Given the description of an element on the screen output the (x, y) to click on. 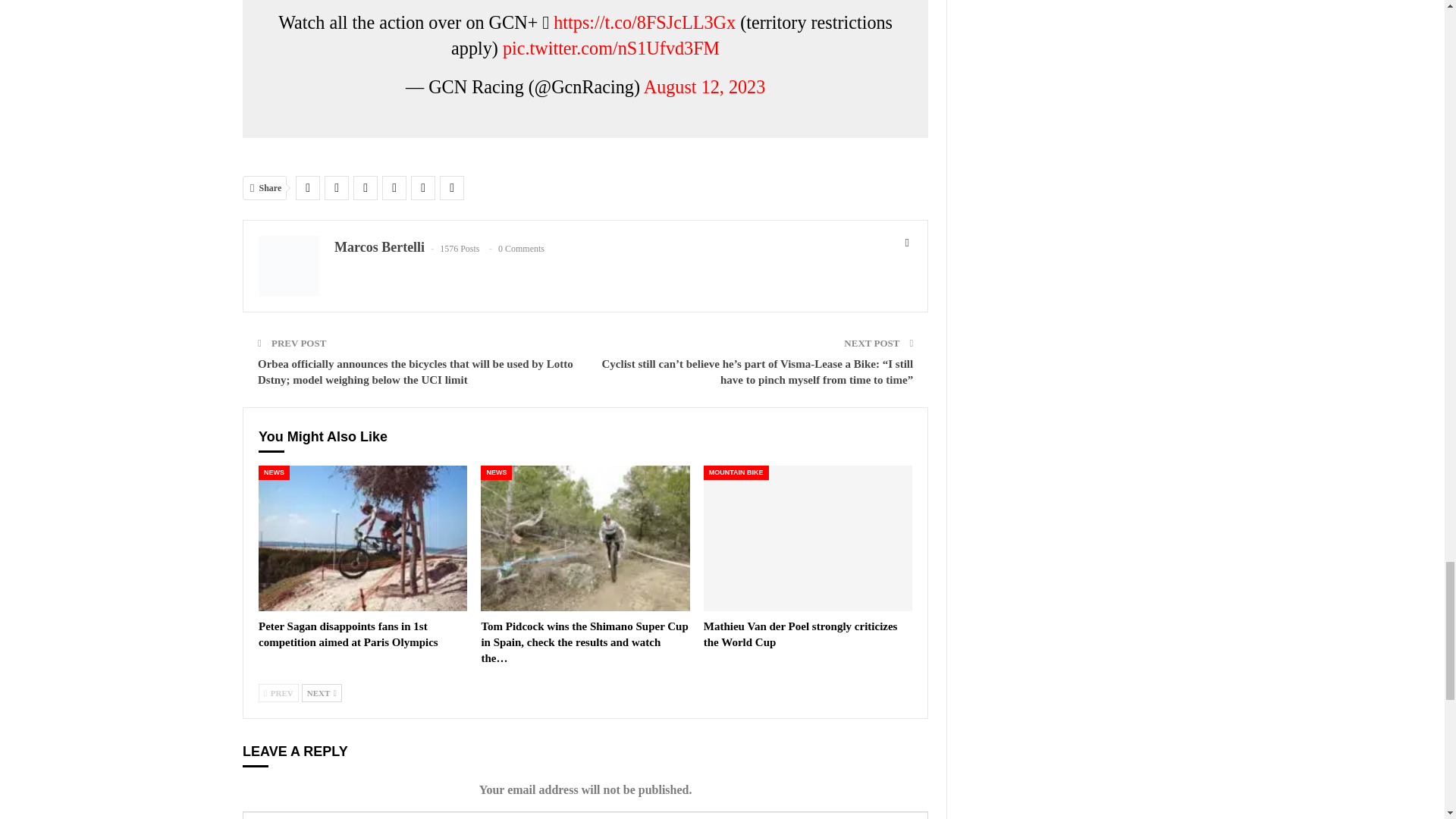
Mathieu Van der Poel strongly criticizes the World Cup (800, 633)
August 12, 2023 (704, 86)
Marcos Bertelli (379, 246)
Mathieu Van der Poel strongly criticizes the World Cup (807, 538)
